Given the description of an element on the screen output the (x, y) to click on. 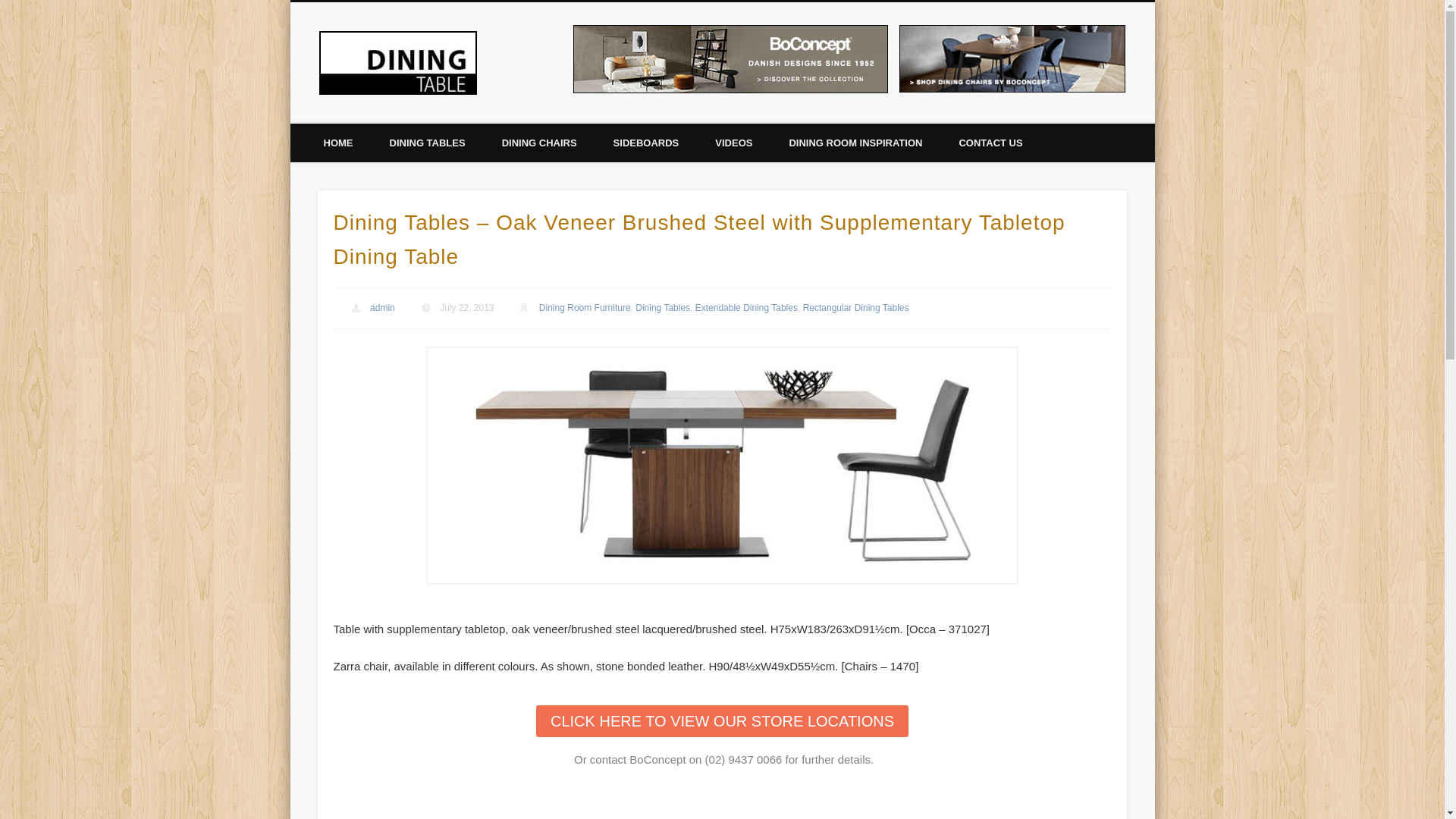
auto accessories singapore Element type: text (1148, 196)
office online store Element type: text (1149, 262)
DINING ROOM INSPIRATION Element type: text (855, 142)
SIDEBOARDS Element type: text (646, 142)
car accessories united states Element type: text (1147, 215)
Rectangular Dining Tables Element type: text (856, 307)
DINING CHAIRS Element type: text (539, 142)
Dining Tables Element type: text (662, 307)
admin Element type: text (382, 307)
HOME Element type: text (337, 142)
Dining Room Furniture Element type: text (584, 307)
CLICK HERE TO VIEW OUR STORE LOCATIONS Element type: text (722, 721)
car online store Element type: text (1148, 253)
DINING TABLES Element type: text (427, 142)
auto accessories sydney Element type: text (1147, 234)
Extendable Dining Tables Element type: text (746, 307)
auto accessories malaysia Element type: text (1145, 186)
CONTACT US Element type: text (990, 142)
VIDEOS Element type: text (733, 142)
